Given the description of an element on the screen output the (x, y) to click on. 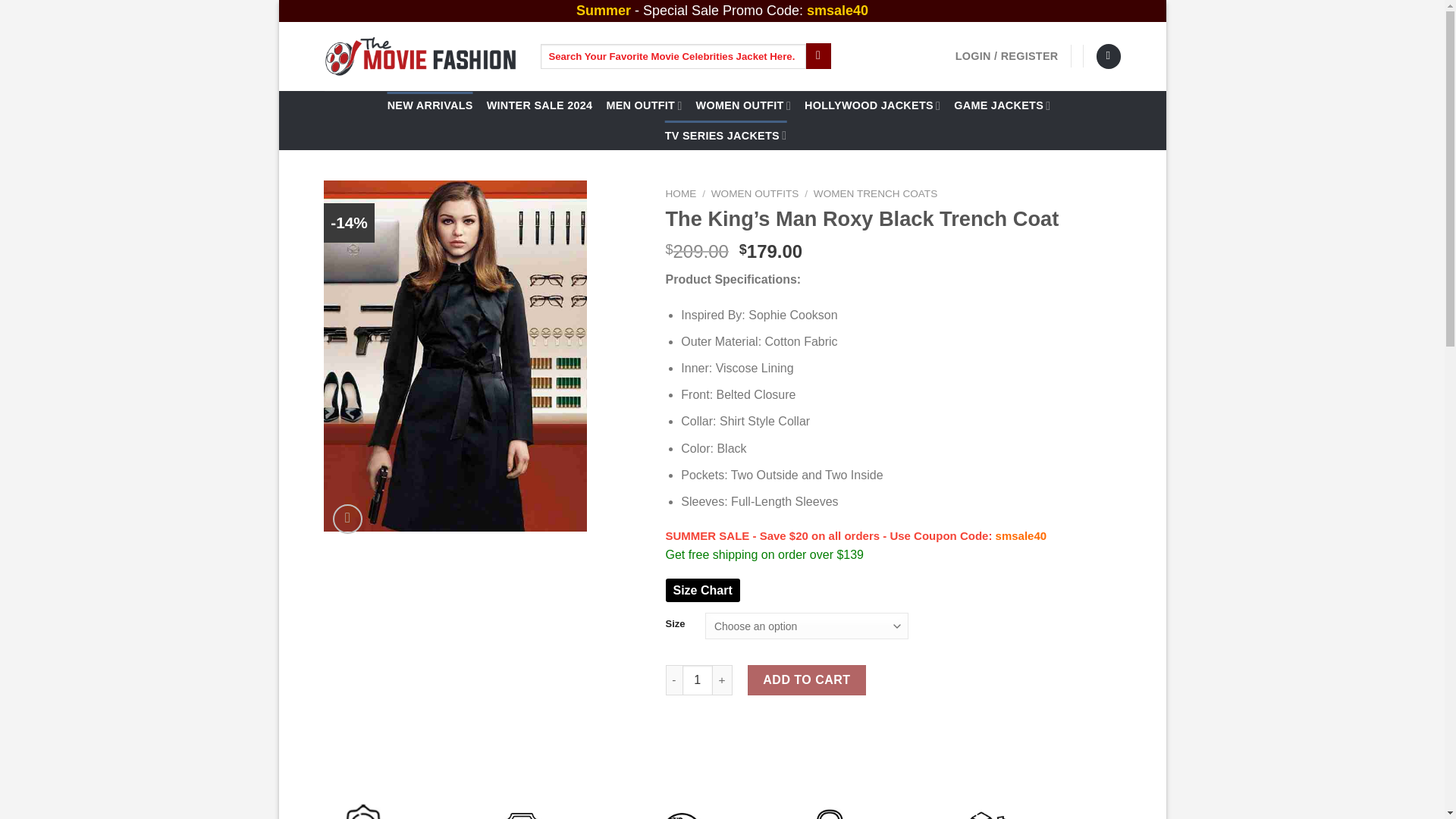
MEN OUTFIT (643, 105)
WOMEN OUTFIT (743, 105)
WINTER SALE 2024 (539, 104)
NEW ARRIVALS (430, 104)
1 (697, 680)
Search (818, 55)
Zoom (347, 518)
